Given the description of an element on the screen output the (x, y) to click on. 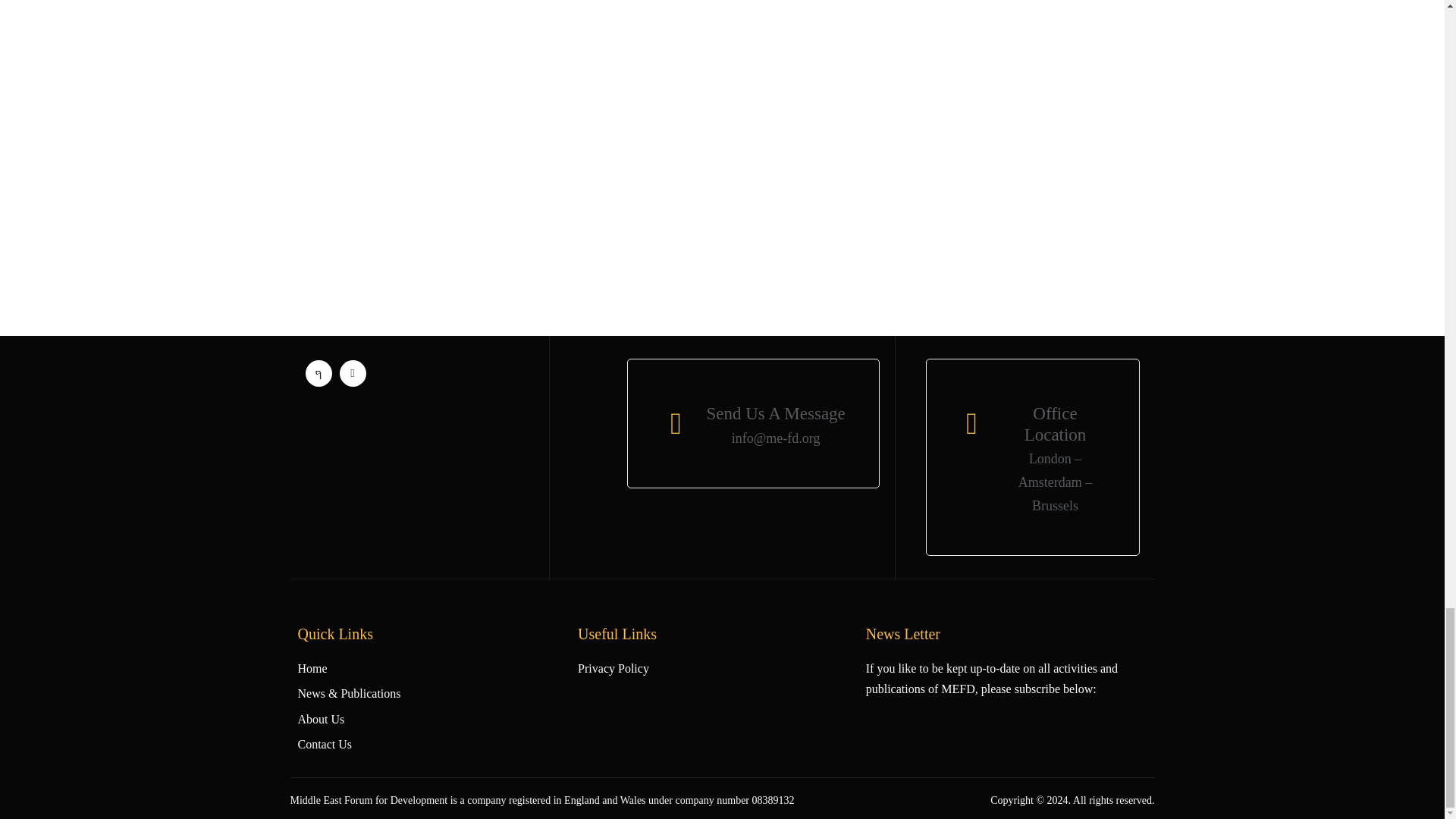
Home (437, 668)
Contact Us (437, 743)
Post Comment (369, 228)
About Us (437, 719)
Privacy Policy (722, 668)
